Given the description of an element on the screen output the (x, y) to click on. 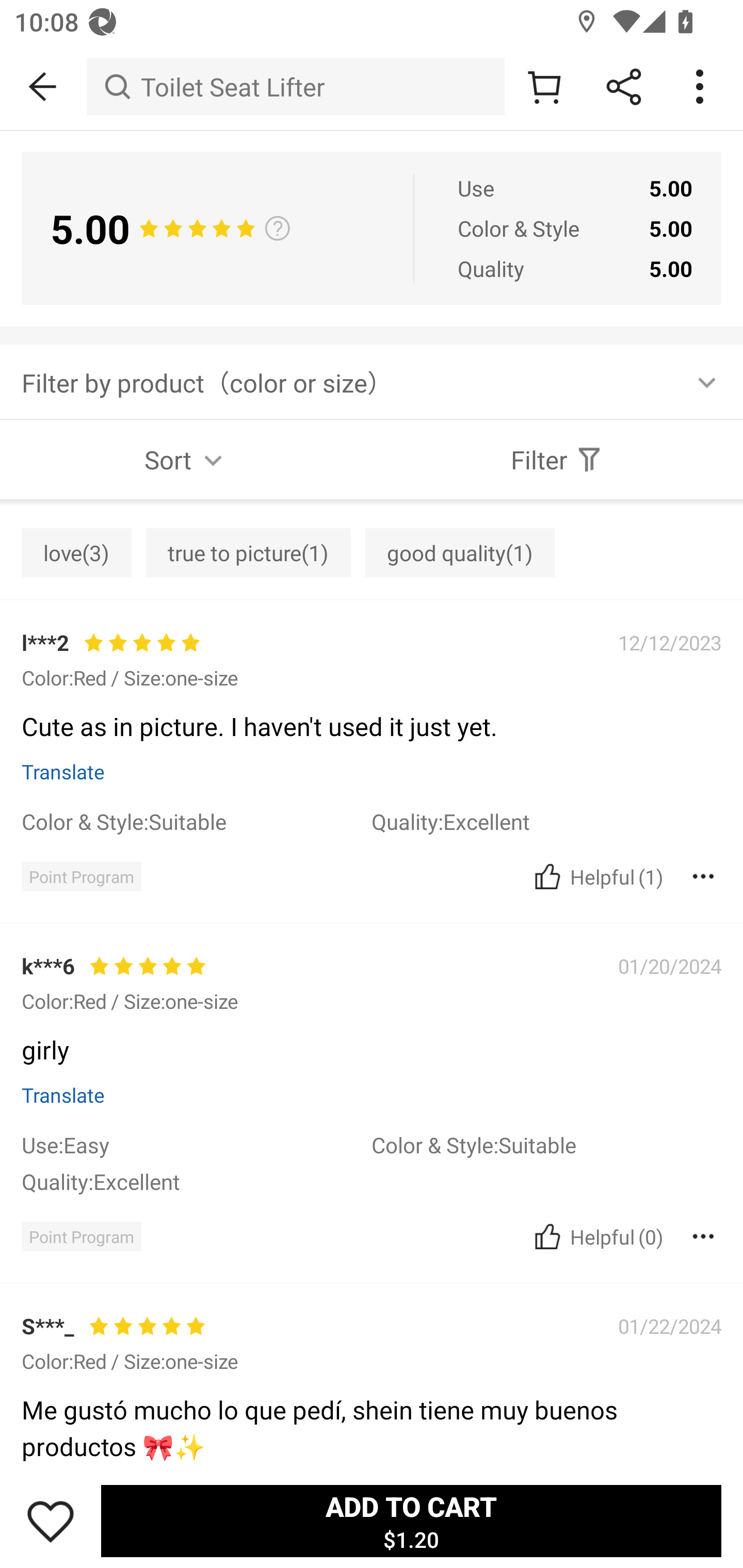
BACK (43, 86)
Toilet Seat Lifter (295, 87)
PHOTOS (371, 501)
Filter by product（color or size） (371, 381)
Sort (185, 459)
Filter (557, 459)
love(3) (76, 552)
true to picture(1) (248, 552)
good quality(1) (460, 552)
Translate (62, 771)
Color & Style:Suitable (196, 820)
Quality:Excellent (546, 820)
Cancel Helpful Was this article helpful? (1) (596, 876)
Point Program (81, 876)
Save $0.06 off this item after joining. (371, 972)
Translate (62, 1094)
Use:Easy (196, 1144)
Color & Style:Suitable (546, 1144)
Quality:Excellent (196, 1181)
Cancel Helpful Was this article helpful? (0) (596, 1235)
Point Program (81, 1236)
ADD TO CART $1.20 (411, 1520)
Save (50, 1520)
